Given the description of an element on the screen output the (x, y) to click on. 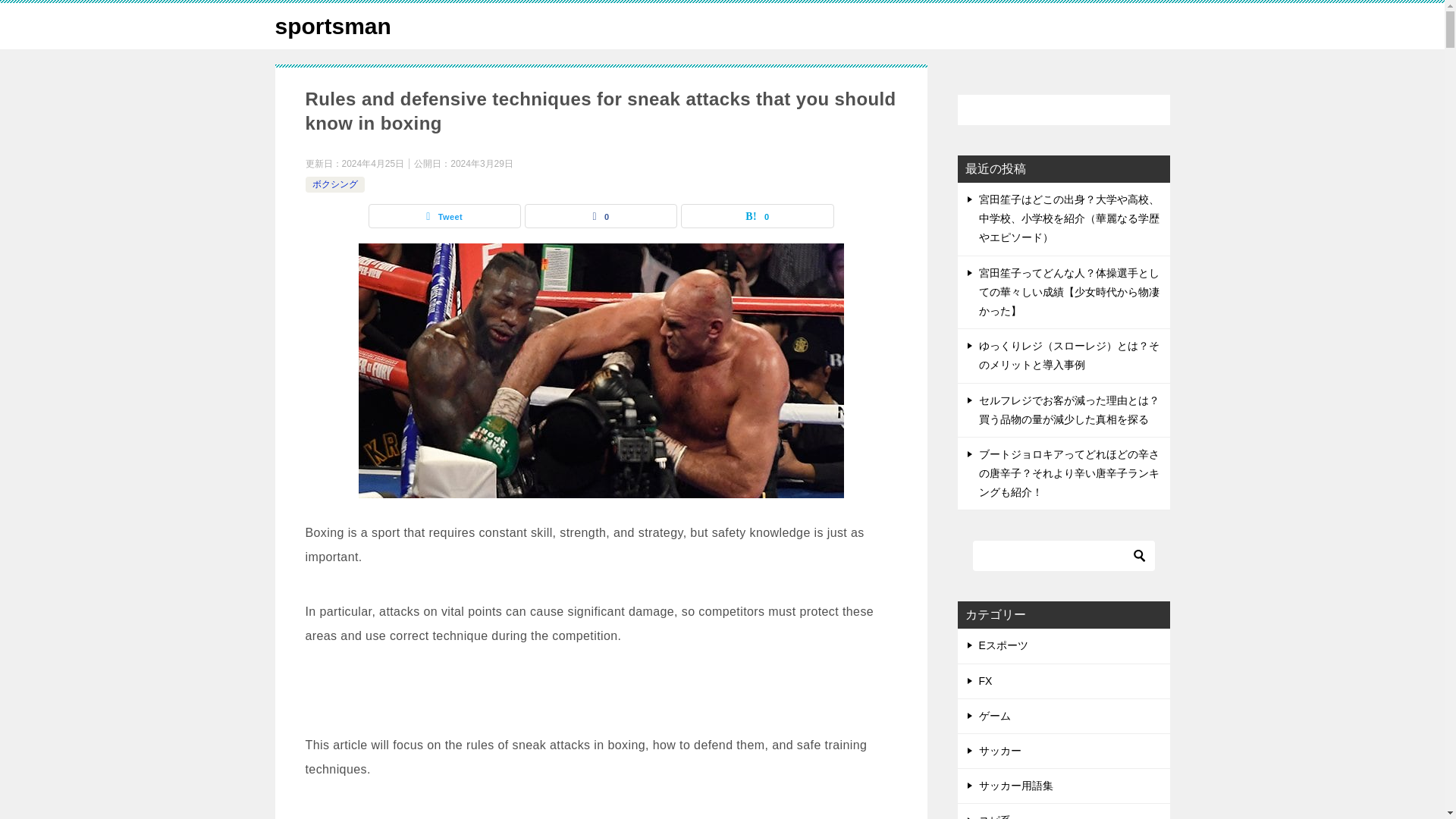
0 (601, 215)
Tweet (443, 215)
sportsman (332, 25)
0 (756, 215)
